Given the description of an element on the screen output the (x, y) to click on. 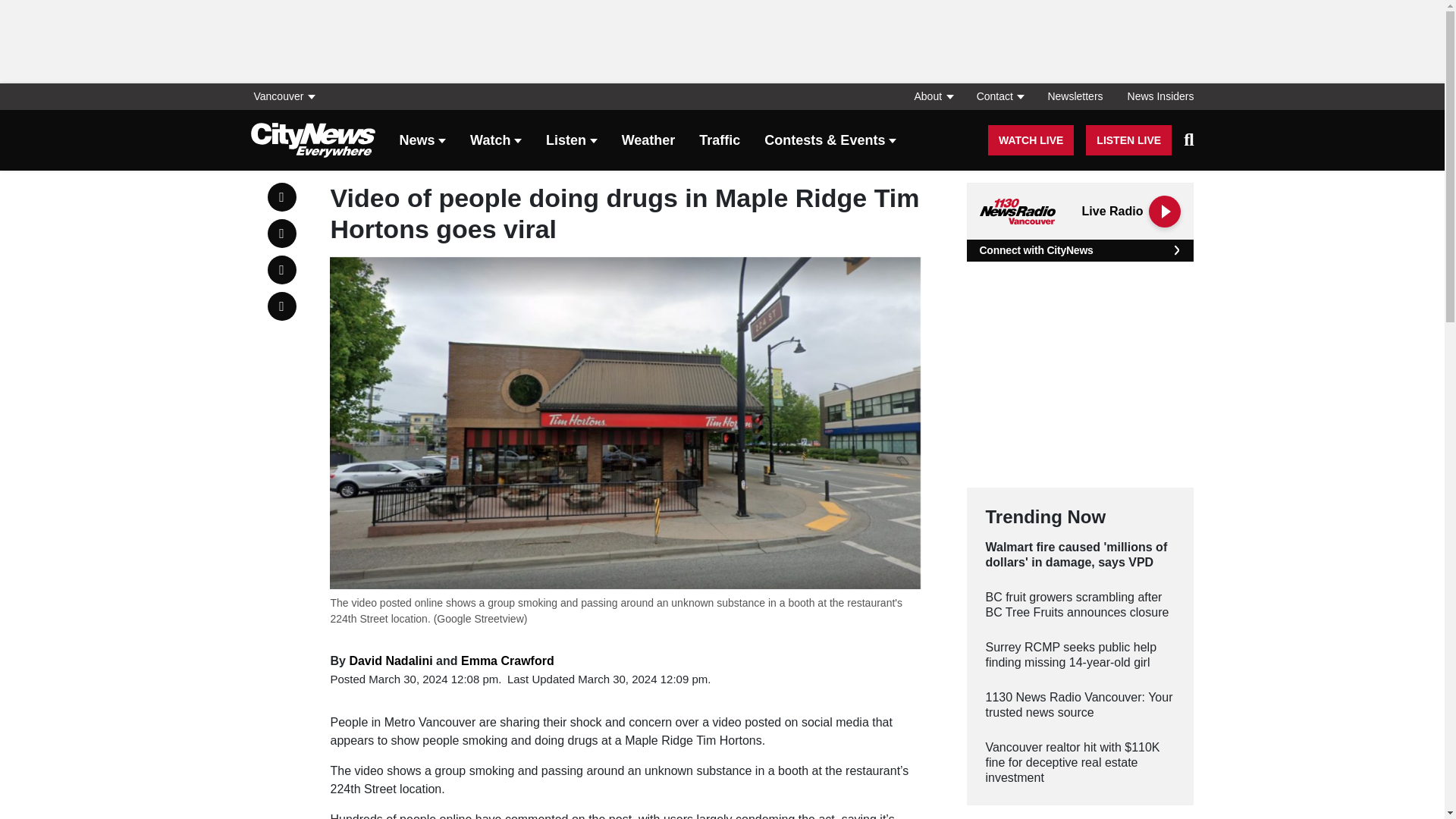
Watch (495, 140)
Vancouver (287, 96)
About (932, 96)
News (421, 140)
Newsletters (1075, 96)
Listen (571, 140)
News Insiders (1154, 96)
Contact (999, 96)
